Given the description of an element on the screen output the (x, y) to click on. 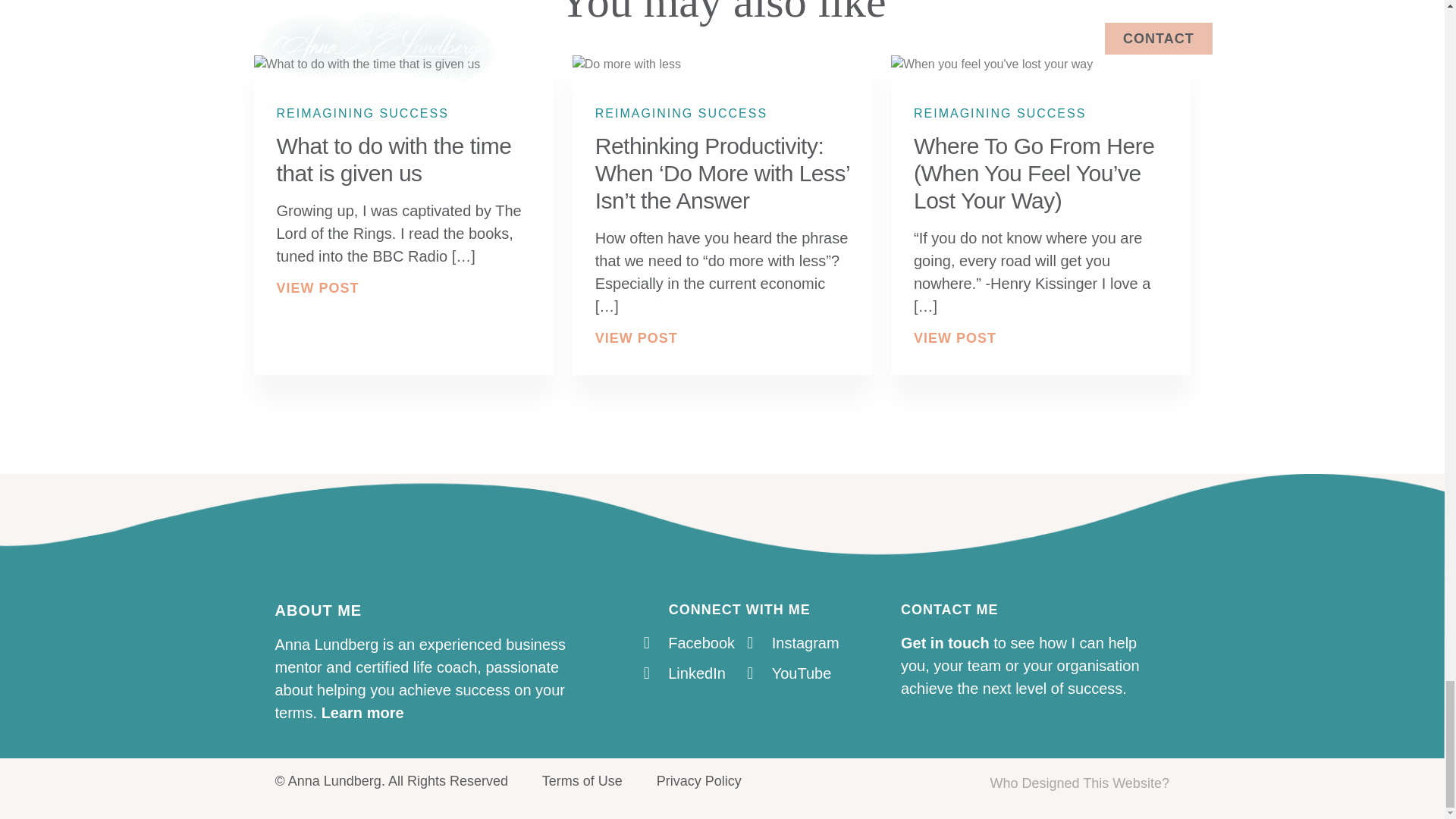
Read (721, 172)
VIEW POST (317, 287)
VIEW POST (636, 337)
VIEW POST (954, 337)
Read (1034, 172)
Read (393, 159)
What to do with the time that is given us (393, 159)
